Given the description of an element on the screen output the (x, y) to click on. 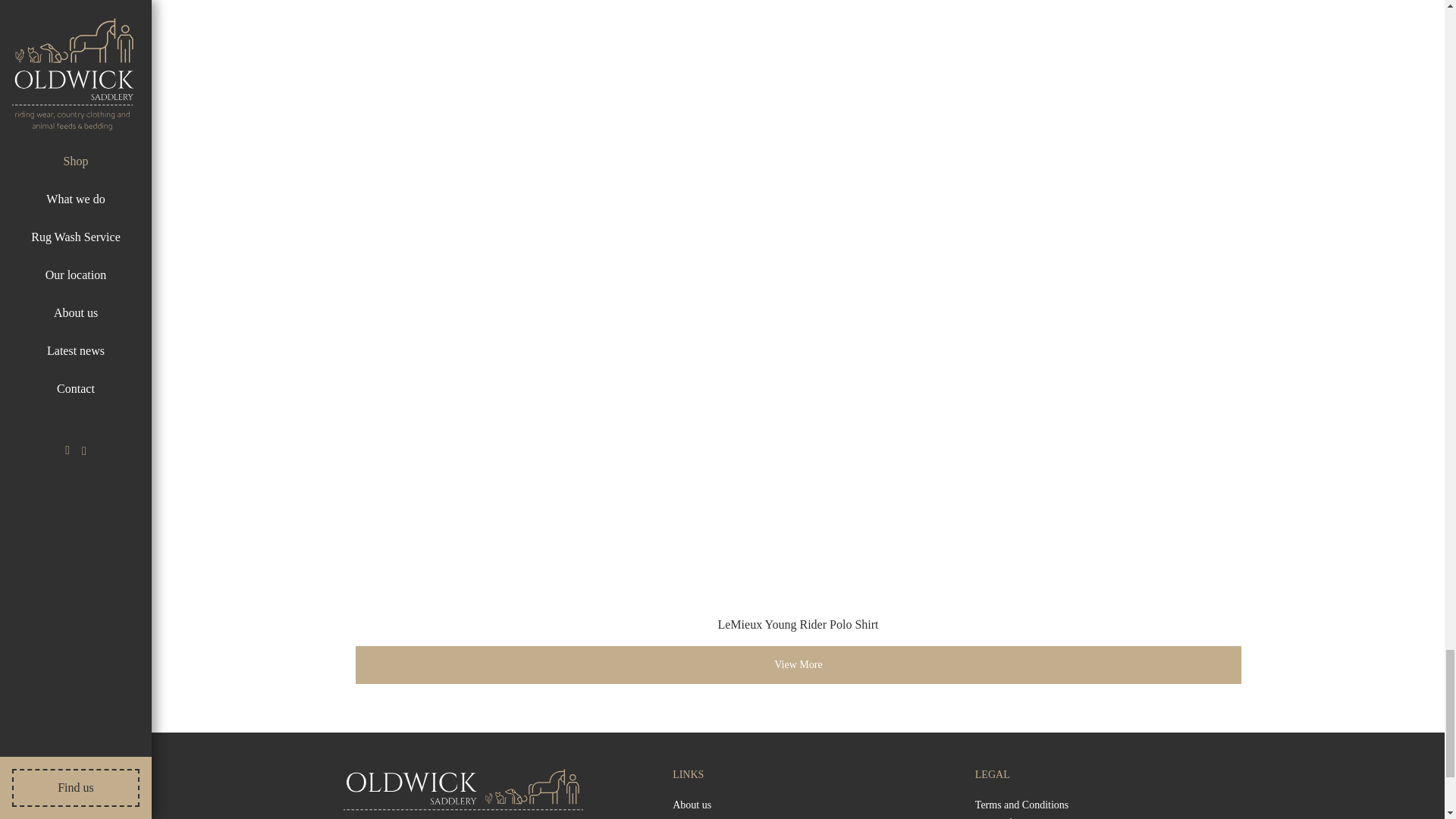
Contact (689, 818)
View More (797, 664)
Terms and Conditions (1021, 805)
Book a fitting (1004, 818)
About us (691, 805)
Oldwick Saddlery (462, 785)
